Given the description of an element on the screen output the (x, y) to click on. 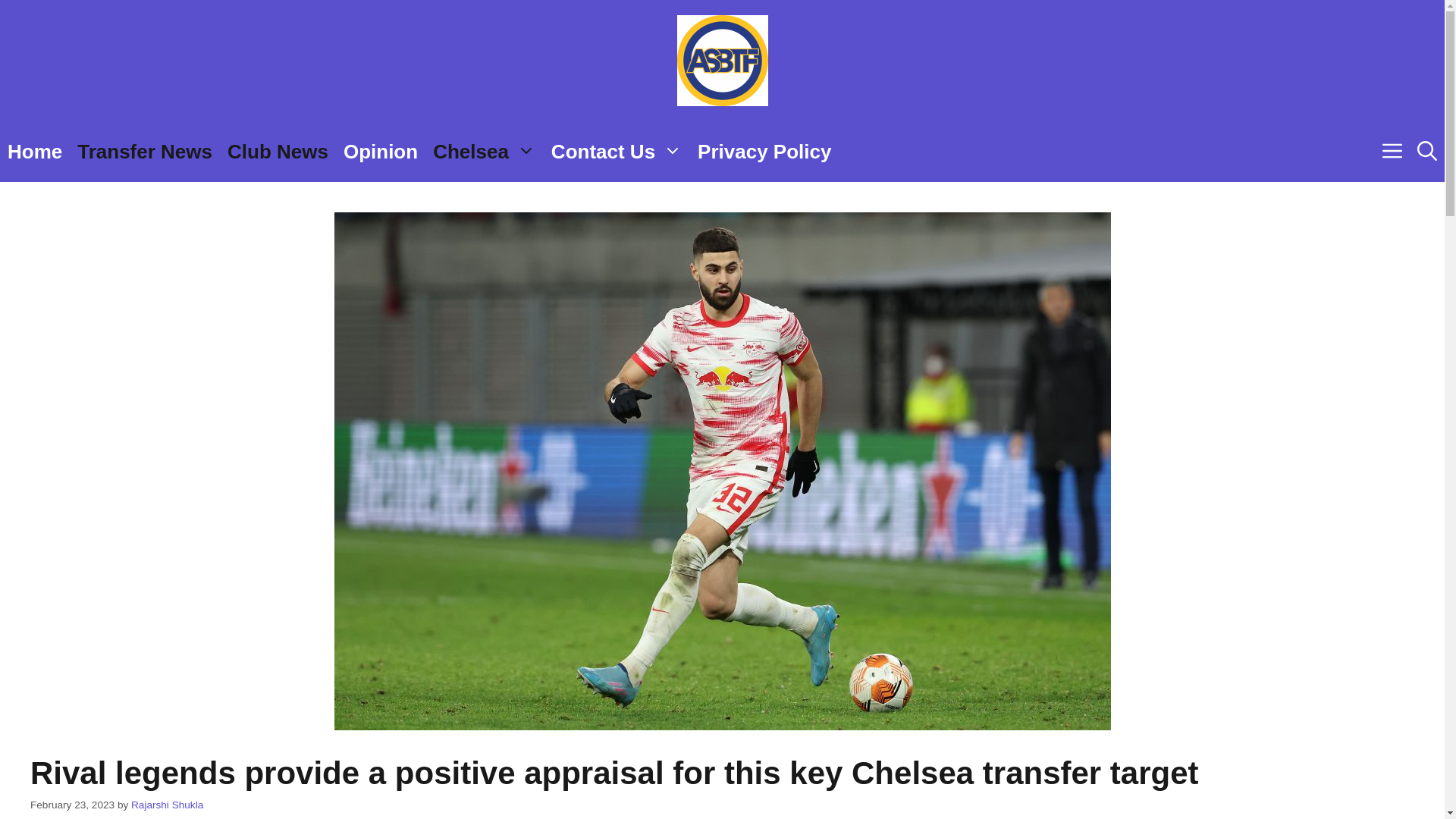
Home (34, 151)
View all posts by Rajarshi Shukla (167, 804)
Chelsea (484, 151)
Club News (277, 151)
Privacy Policy (764, 151)
Contact Us (616, 151)
Opinion (380, 151)
Rajarshi Shukla (167, 804)
Transfer News (144, 151)
